Given the description of an element on the screen output the (x, y) to click on. 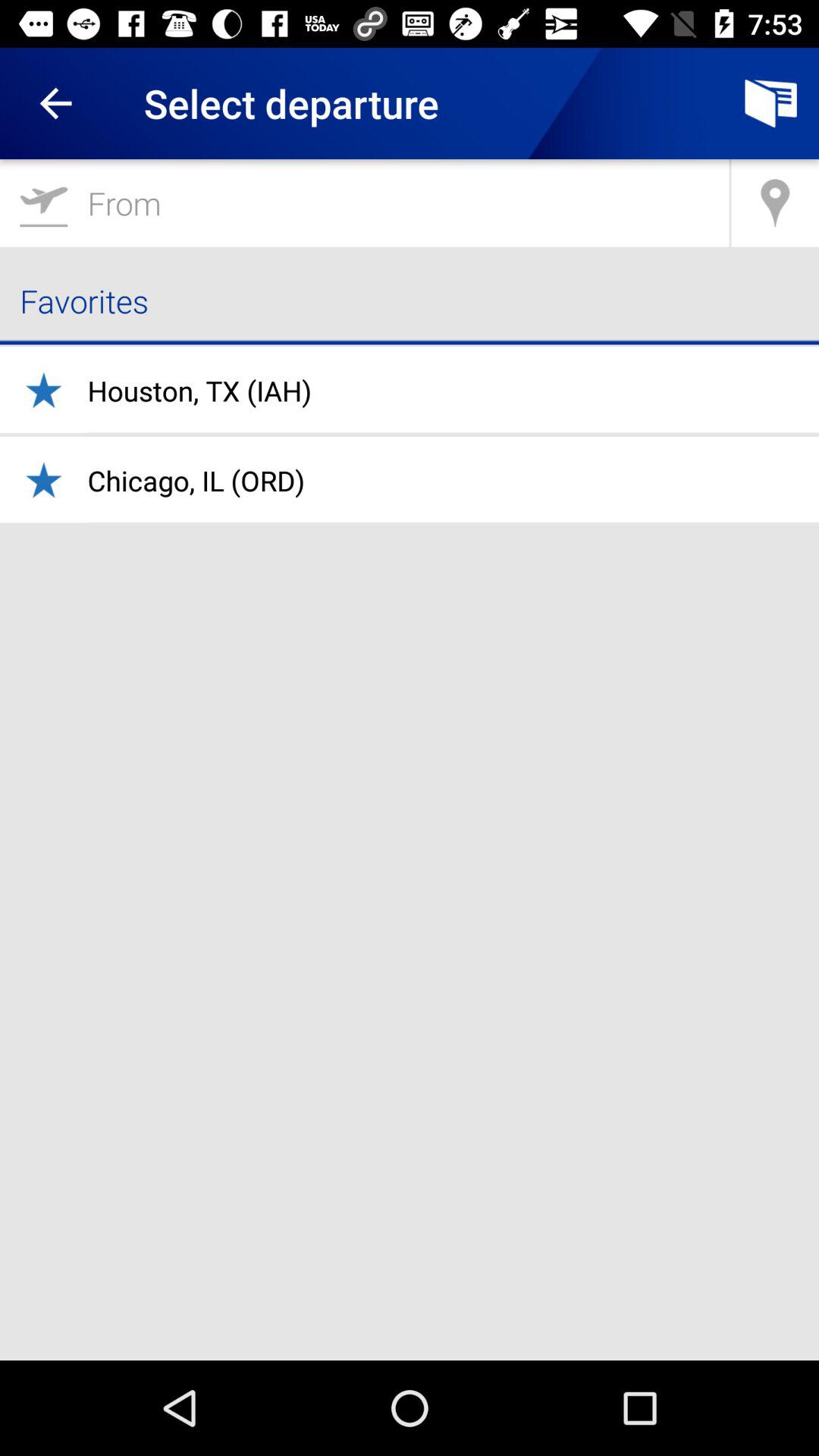
select the icon below the houston, tx (iah) item (195, 480)
